Given the description of an element on the screen output the (x, y) to click on. 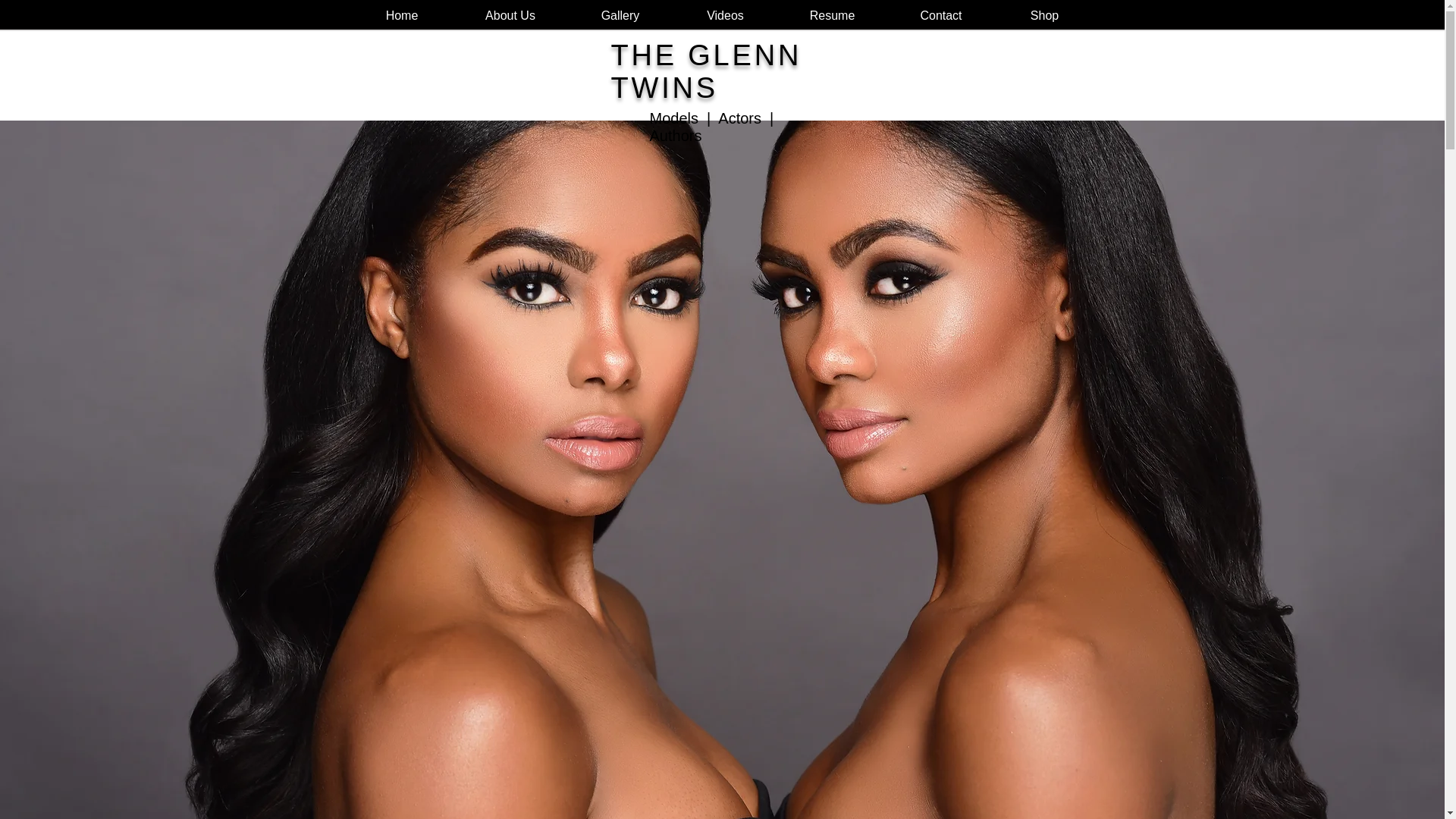
Contact (940, 15)
Home (401, 15)
Resume (831, 15)
Videos (724, 15)
Shop (1043, 15)
THE GLENN TWINS (706, 71)
About Us (509, 15)
